Given the description of an element on the screen output the (x, y) to click on. 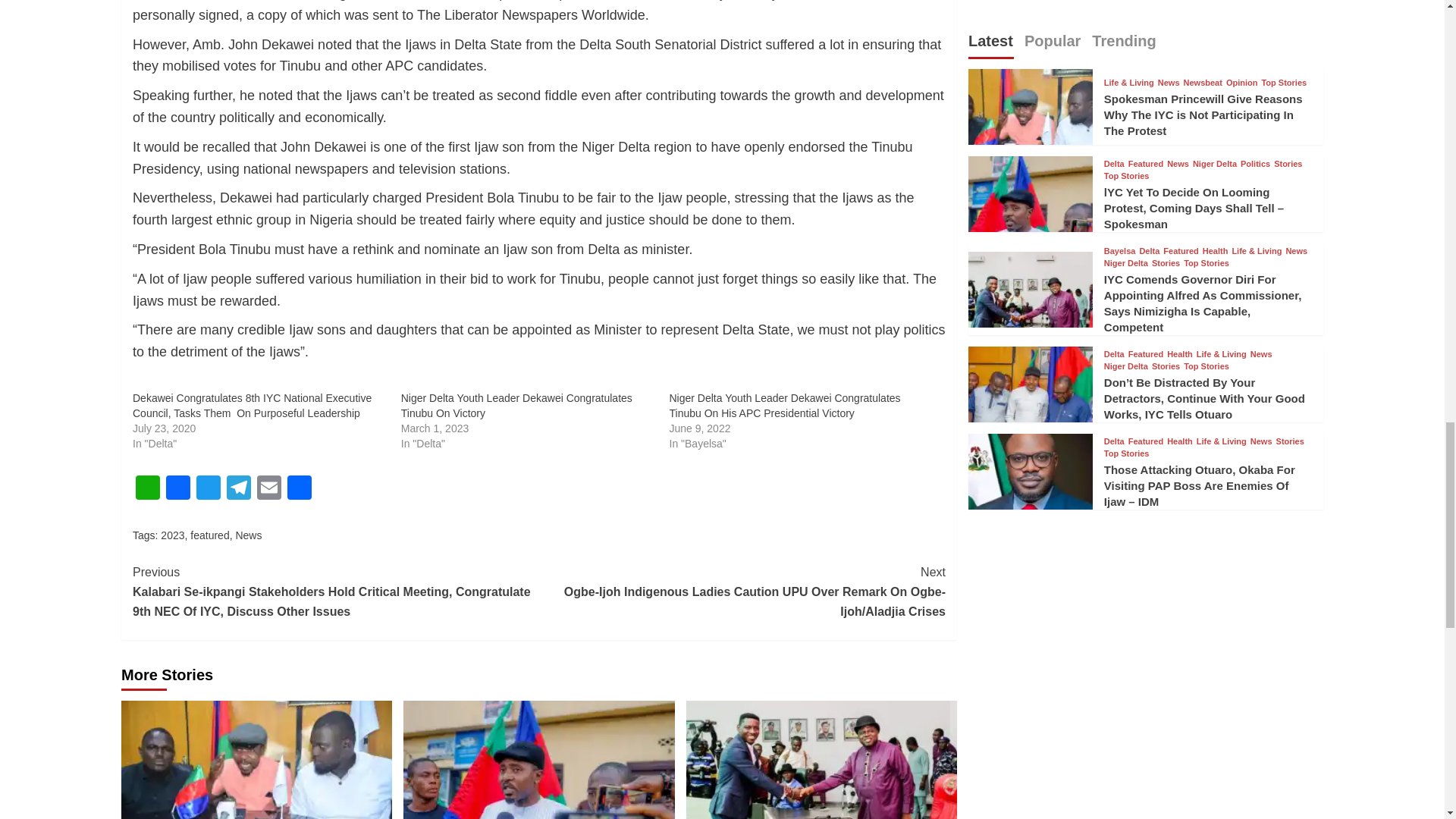
WhatsApp (147, 489)
Twitter (208, 489)
Telegram (238, 489)
Facebook (178, 489)
Email (268, 489)
